Given the description of an element on the screen output the (x, y) to click on. 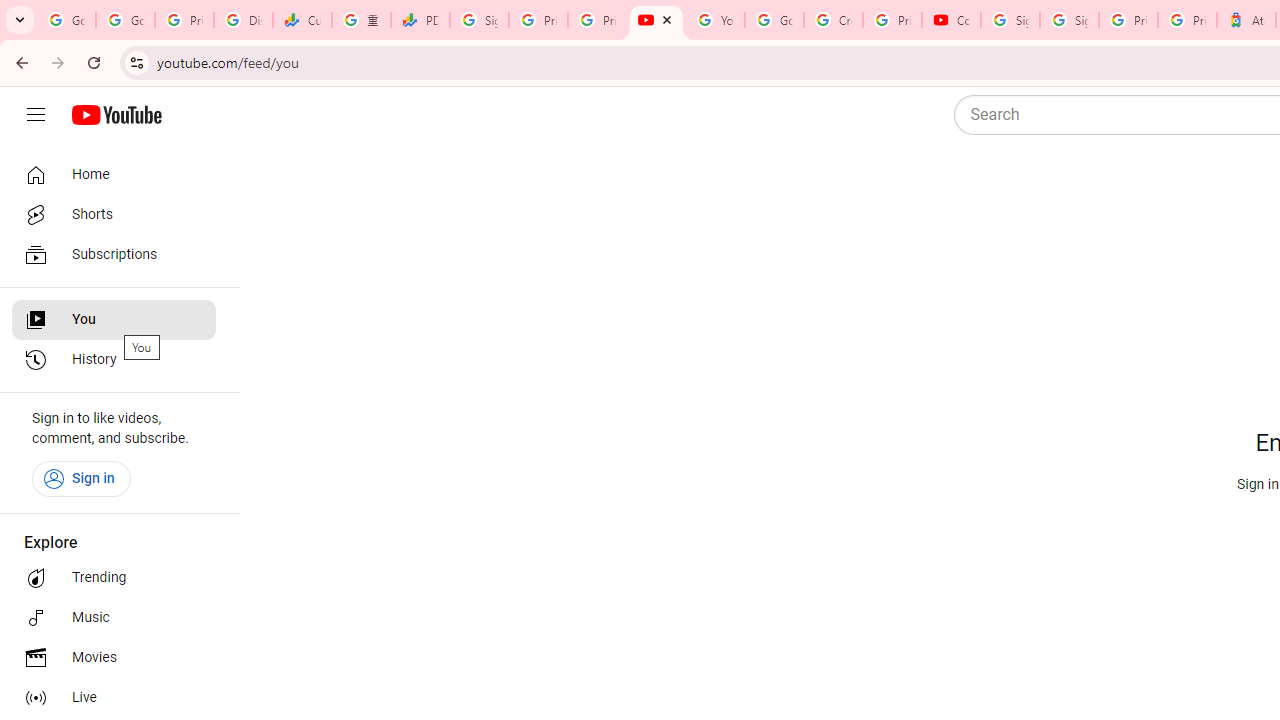
PDD Holdings Inc - ADR (PDD) Price & News - Google Finance (420, 20)
Currencies - Google Finance (301, 20)
Trending (113, 578)
Movies (113, 657)
Live (113, 697)
Sign in - Google Accounts (479, 20)
